Given the description of an element on the screen output the (x, y) to click on. 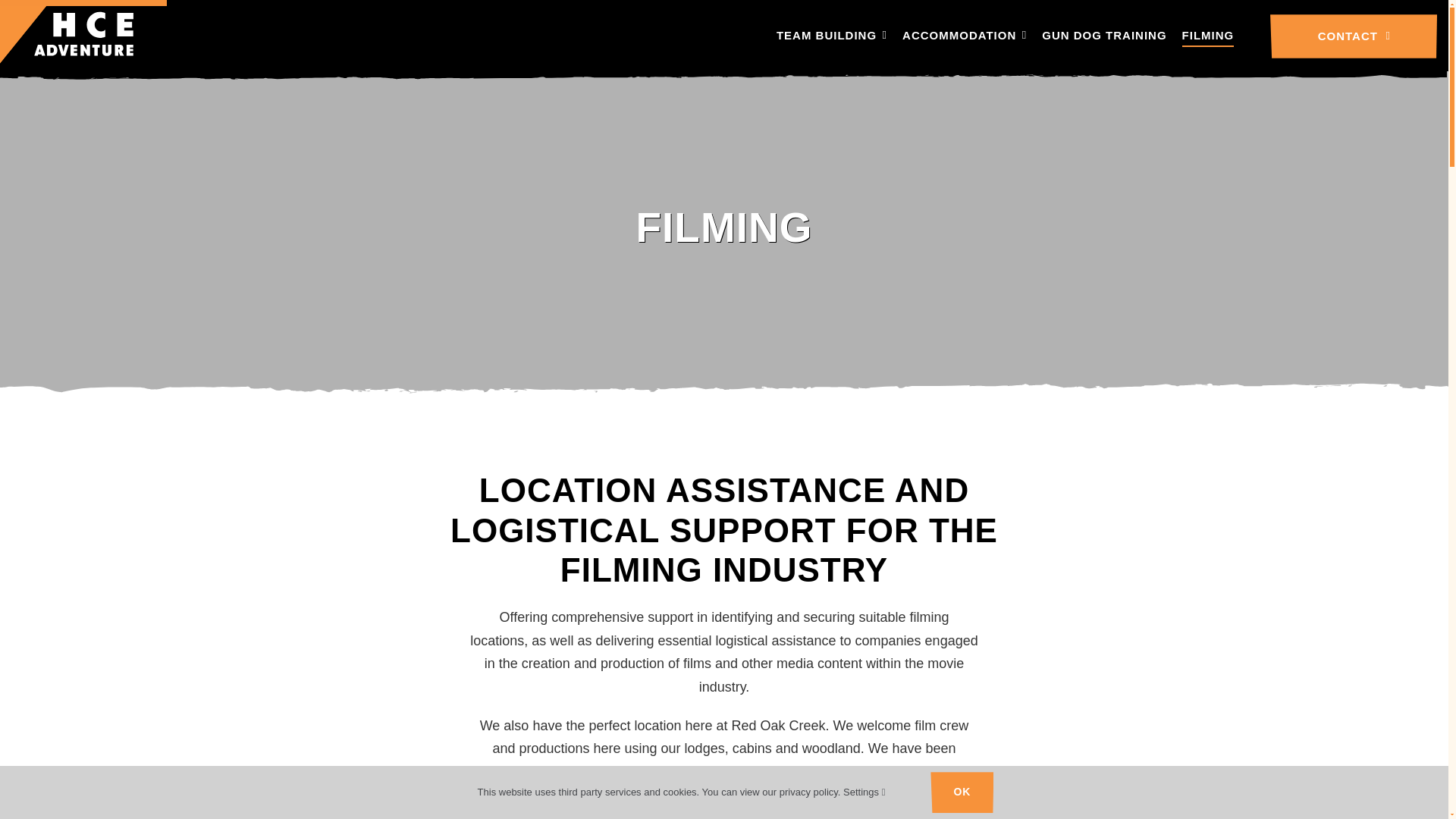
Settings (864, 791)
TEAM BUILDING (831, 35)
FILMING (1208, 35)
privacy policy (808, 791)
OK (961, 792)
Contact us online (1353, 36)
CONTACT (1353, 36)
GUN DOG TRAINING (1104, 35)
ACCOMMODATION (964, 35)
